Given the description of an element on the screen output the (x, y) to click on. 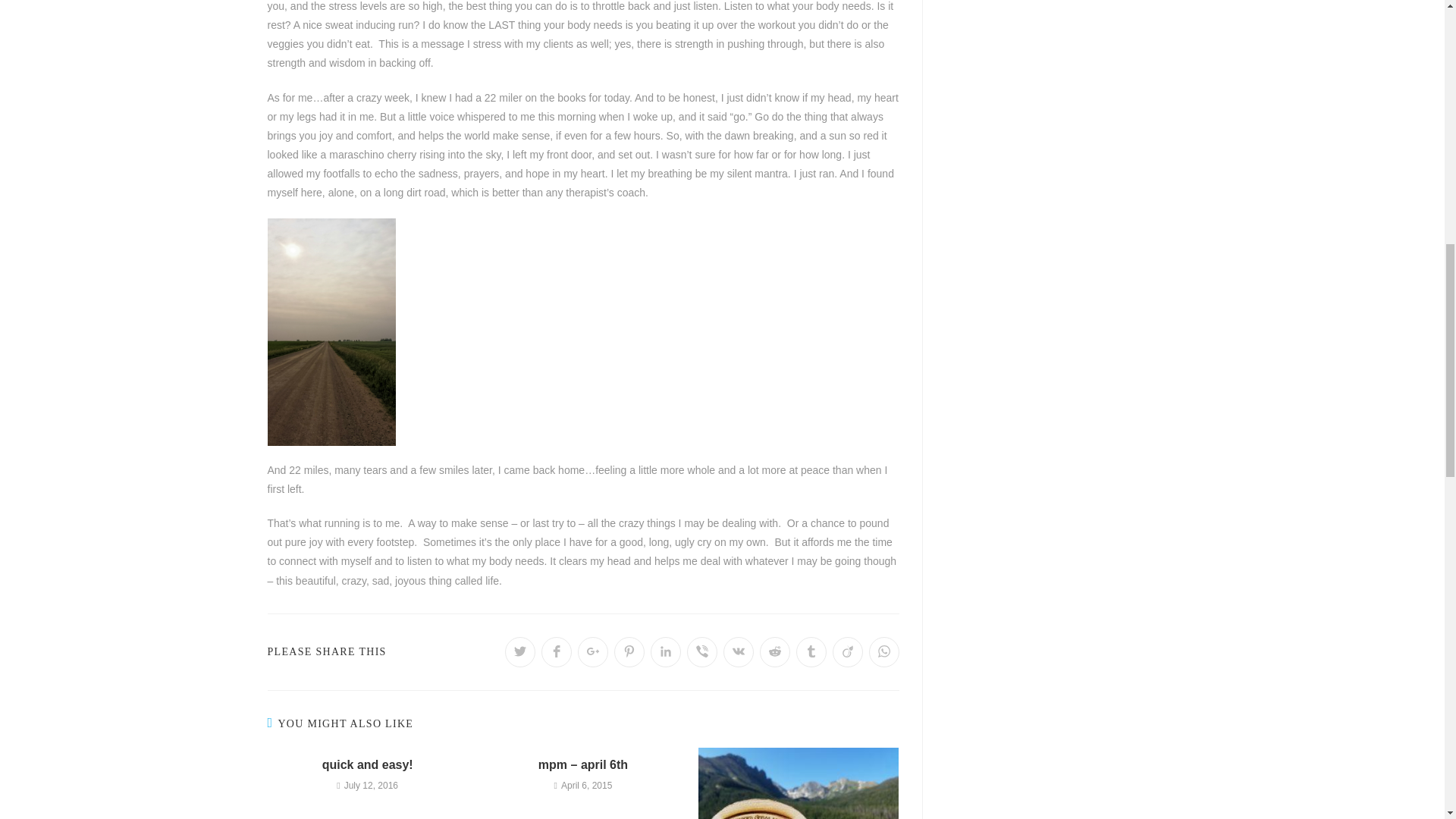
Opens in a new window (593, 652)
Opens in a new window (775, 652)
Opens in a new window (738, 652)
Opens in a new window (811, 652)
Quick and Easy! (367, 764)
Opens in a new window (520, 652)
Opens in a new window (702, 652)
quick and easy! (367, 764)
Opens in a new window (884, 652)
Opens in a new window (629, 652)
Opens in a new window (665, 652)
Opens in a new window (847, 652)
Opens in a new window (556, 652)
